Given the description of an element on the screen output the (x, y) to click on. 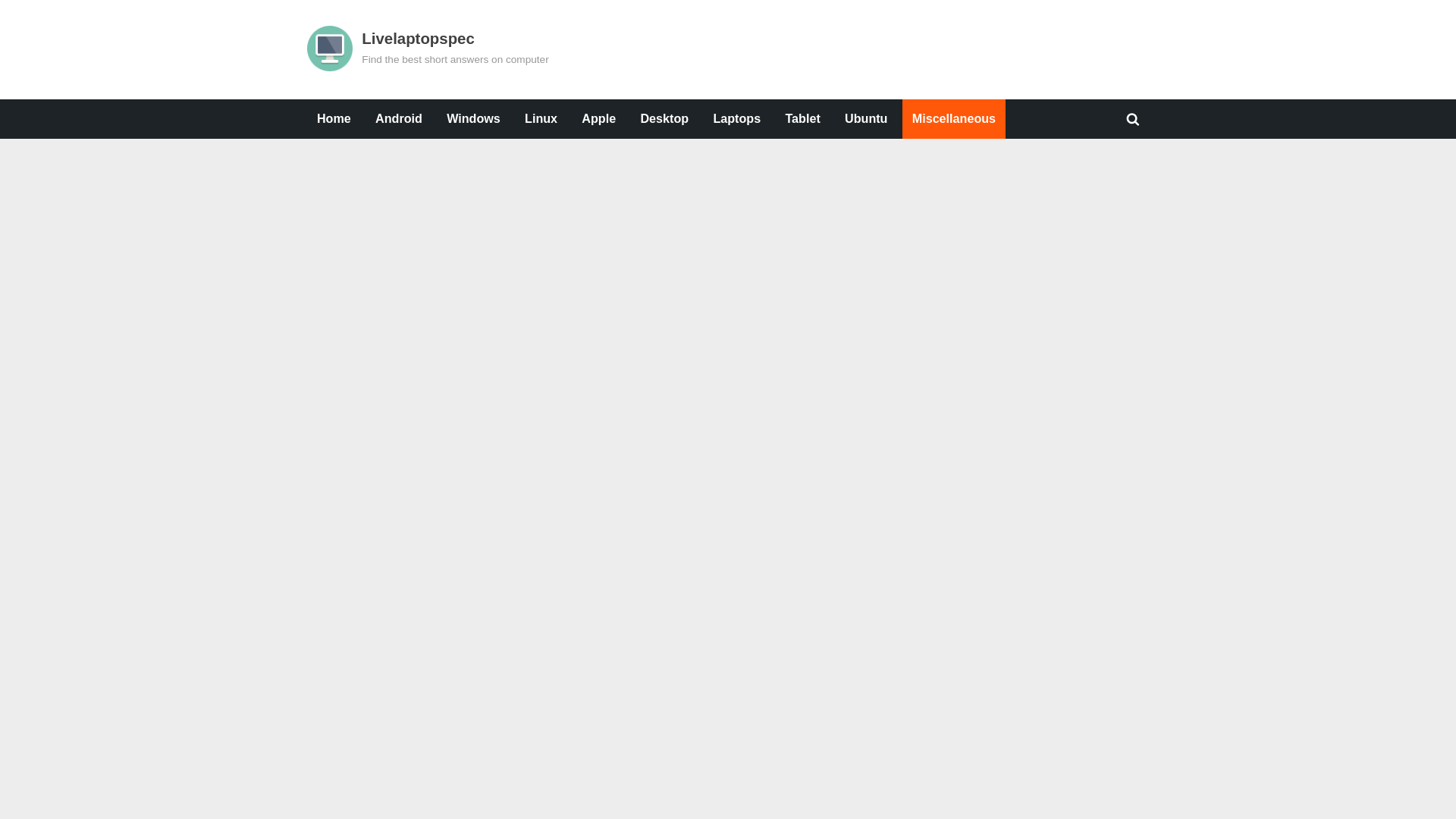
Windows (473, 118)
Android (398, 118)
Desktop (664, 118)
Home (334, 118)
Ubuntu (865, 118)
Toggle search form (1133, 118)
Livelaptopspec (417, 38)
Miscellaneous (954, 118)
Tablet (802, 118)
Apple (599, 118)
